Given the description of an element on the screen output the (x, y) to click on. 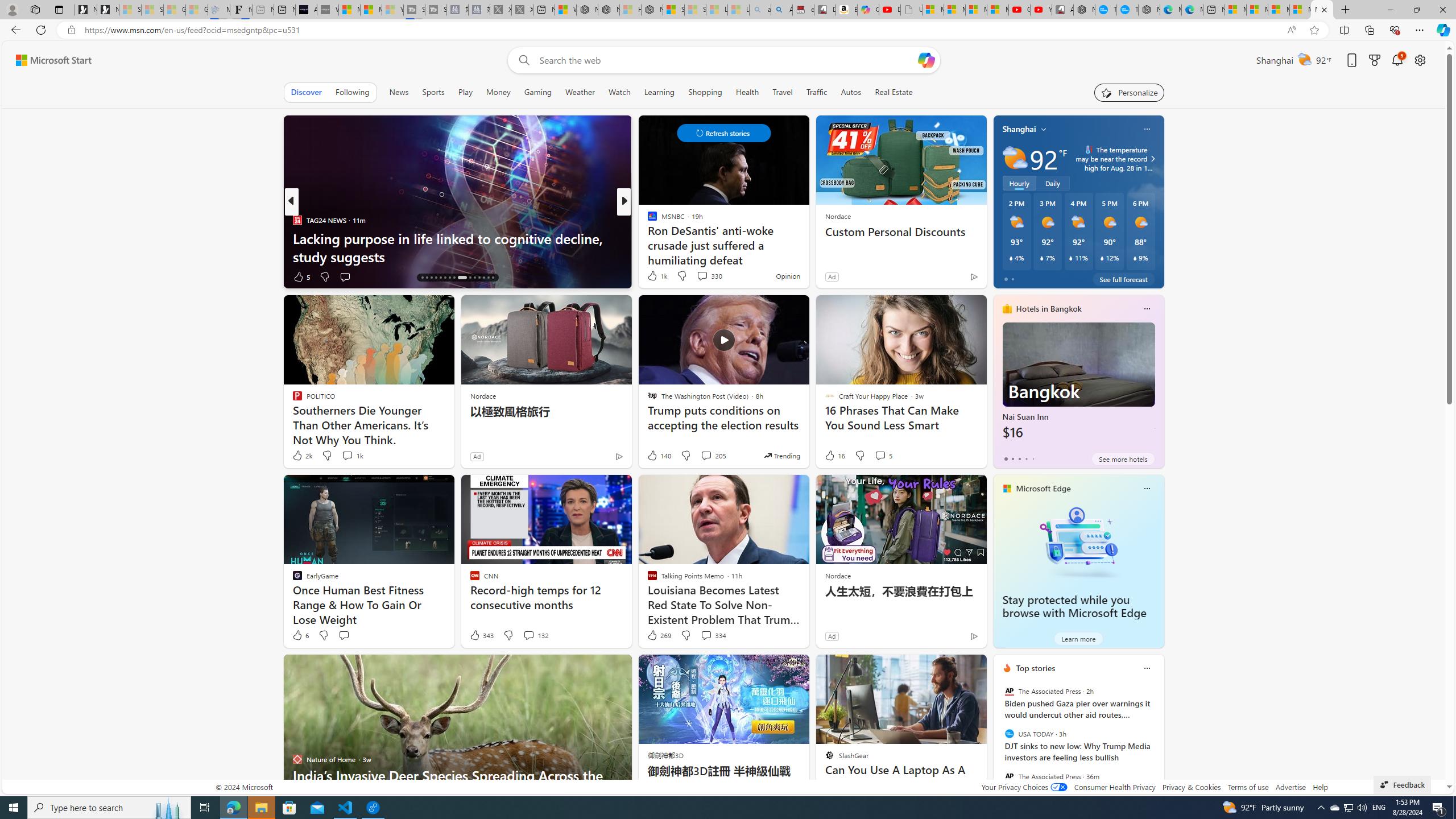
1k Like (656, 275)
Your Privacy Choices (1024, 786)
Help (1320, 786)
AutomationID: tab-16 (422, 277)
Nordace - Nordace has arrived Hong Kong (1149, 9)
140 Like (658, 455)
AutomationID: tab-21 (444, 277)
87 Like (652, 276)
